Given the description of an element on the screen output the (x, y) to click on. 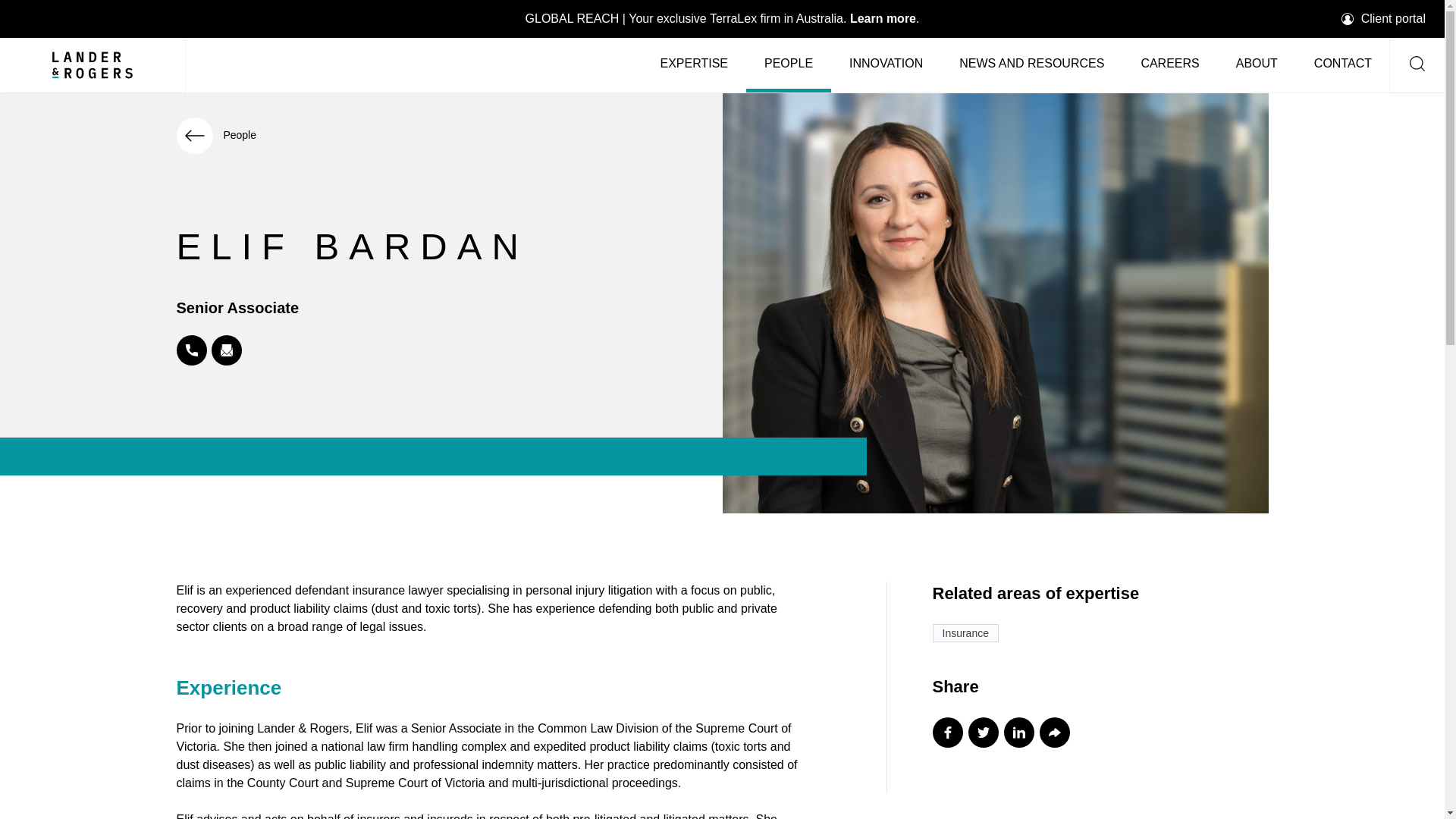
INNOVATION (885, 63)
PEOPLE (788, 63)
NEWS AND RESOURCES (1031, 63)
TerraLex global network (722, 18)
EXPERTISE (693, 63)
